Given the description of an element on the screen output the (x, y) to click on. 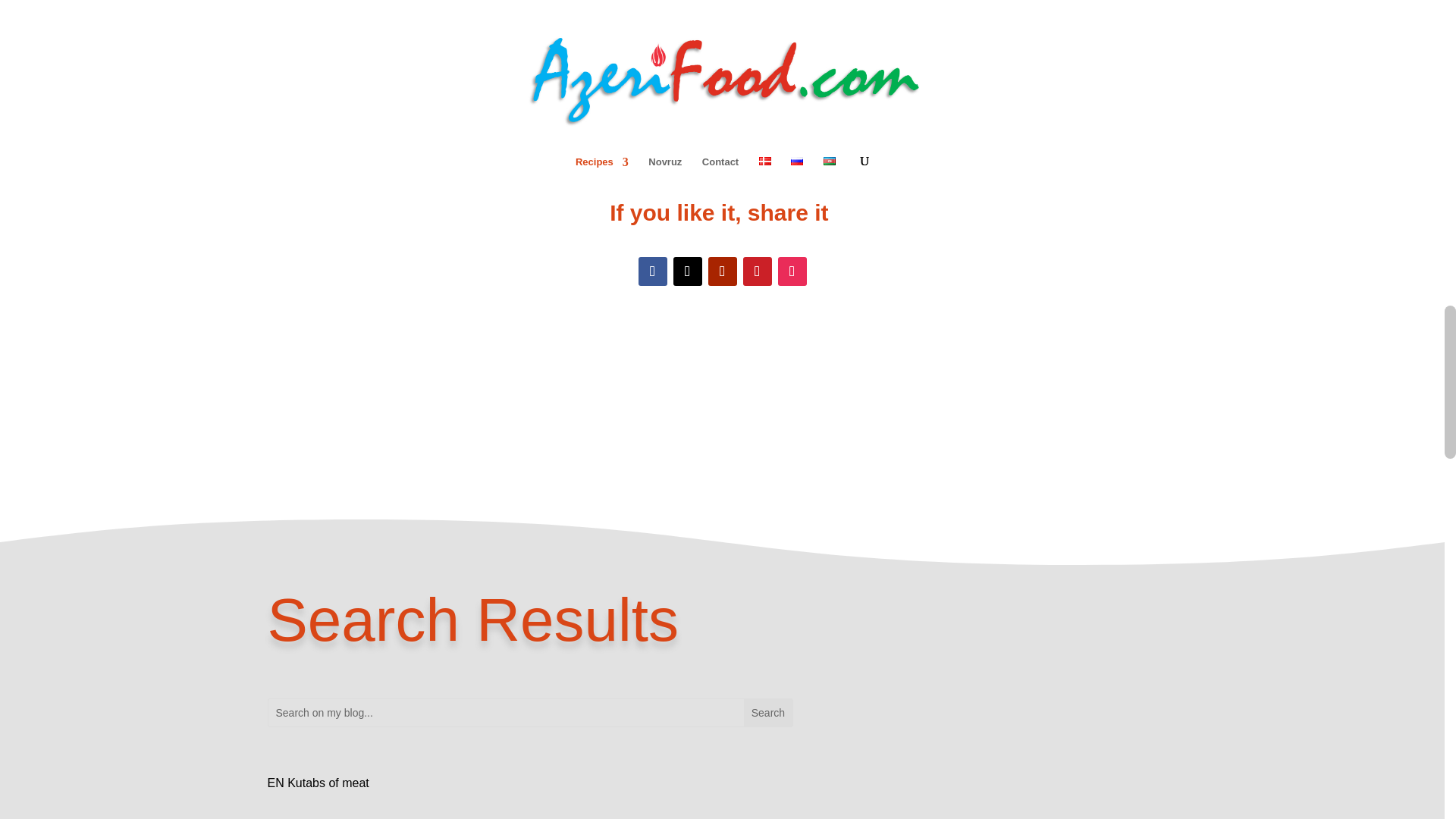
Follow on Instagram (791, 271)
Follow on Facebook (652, 271)
Follow on Youtube (721, 271)
Follow on X (686, 271)
Search (768, 712)
Search (768, 712)
Follow on Pinterest (756, 271)
